Given the description of an element on the screen output the (x, y) to click on. 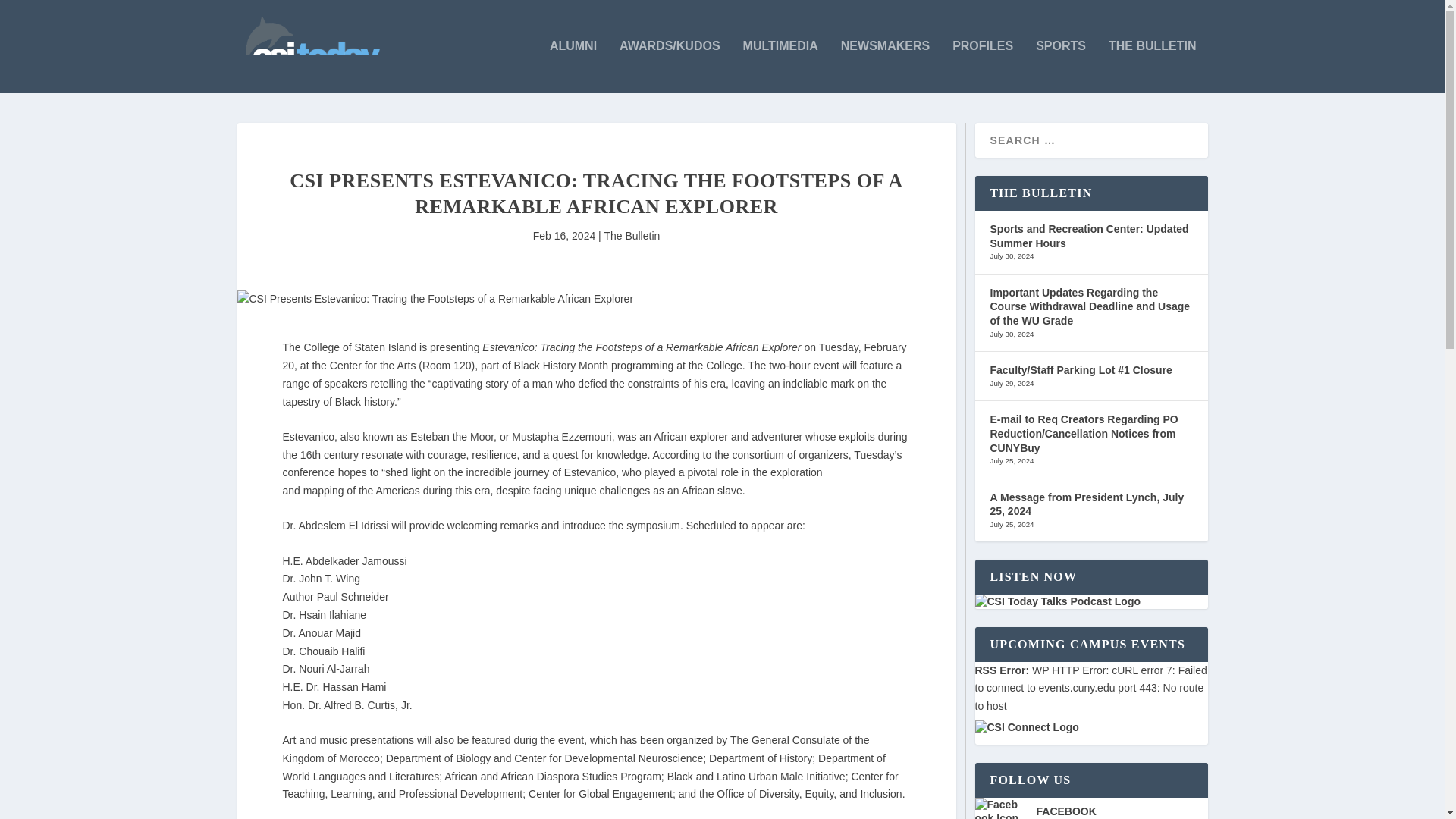
The Bulletin (631, 235)
ALUMNI (573, 66)
SPORTS (1060, 66)
PROFILES (982, 66)
MULTIMEDIA (780, 66)
Search (31, 13)
THE BULLETIN (1152, 66)
NEWSMAKERS (885, 66)
Sports and Recreation Center: Updated Summer Hours (1089, 235)
